Given the description of an element on the screen output the (x, y) to click on. 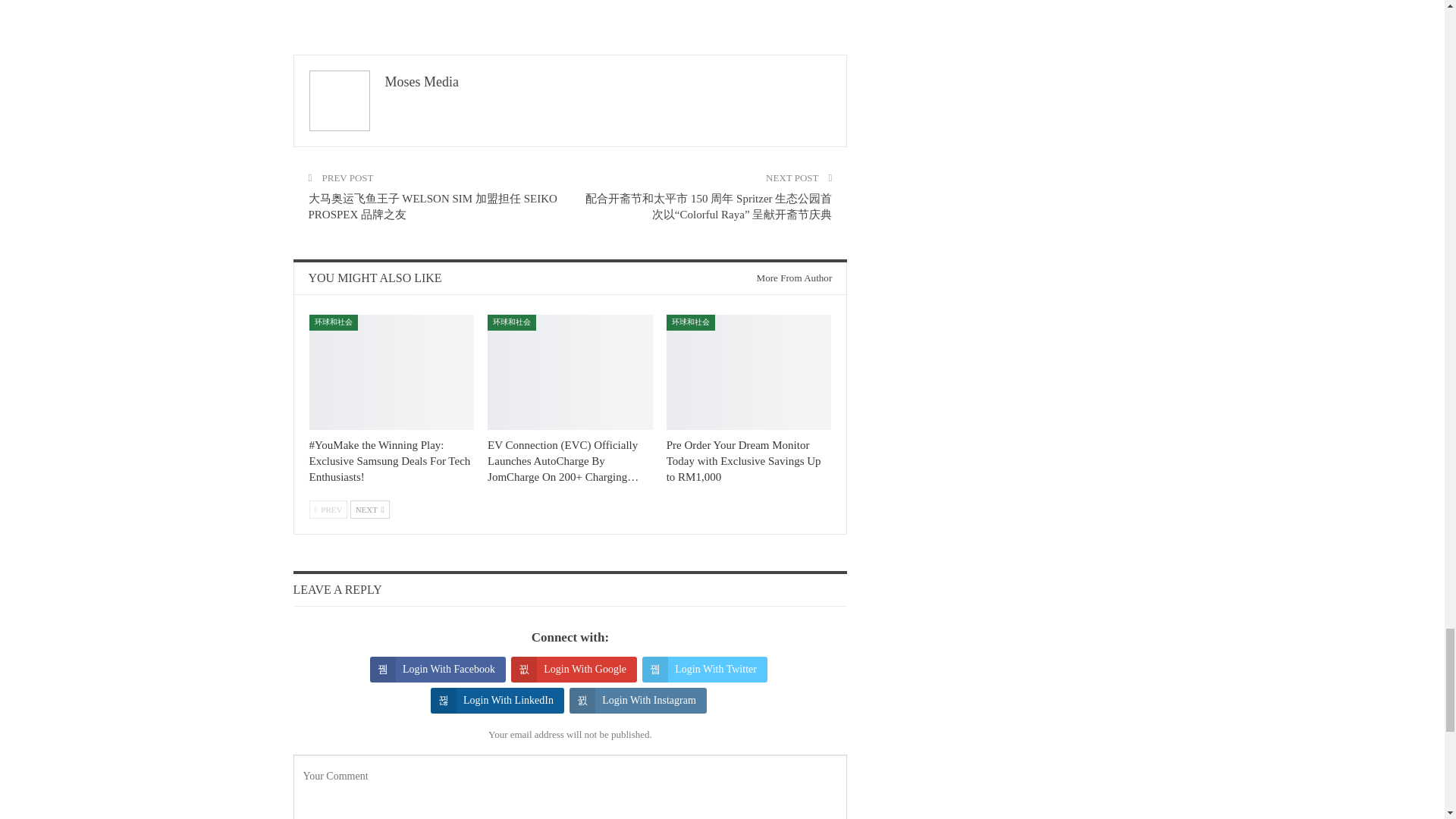
Next (370, 509)
Previous (327, 509)
